Given the description of an element on the screen output the (x, y) to click on. 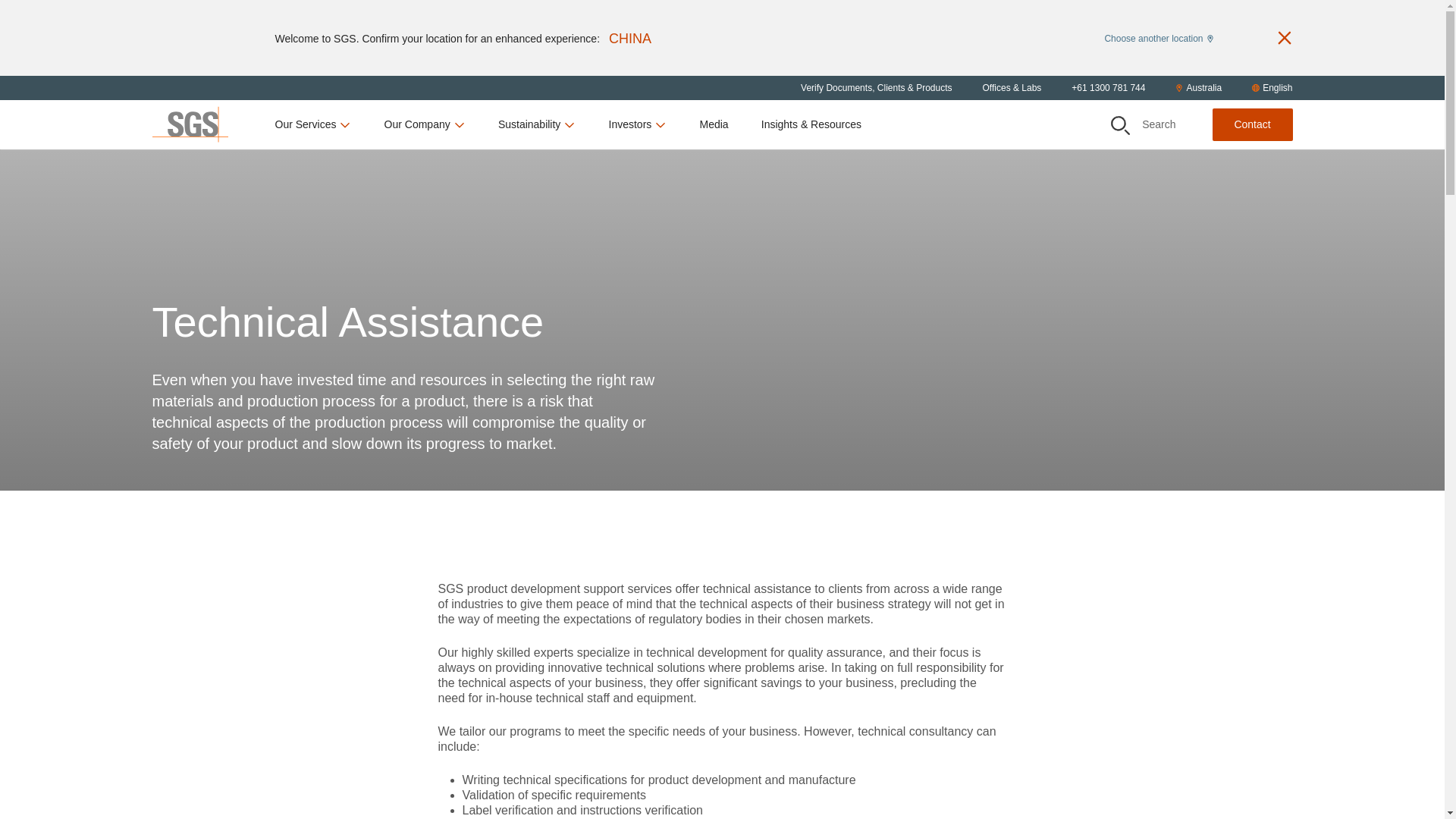
Media (713, 124)
Search (1119, 125)
Our Services (313, 124)
Choose another location (1157, 37)
Investors (637, 124)
CHINA (629, 38)
Contact (1251, 124)
SGS (189, 124)
Sustainability (536, 124)
Australia (1197, 87)
